Given the description of an element on the screen output the (x, y) to click on. 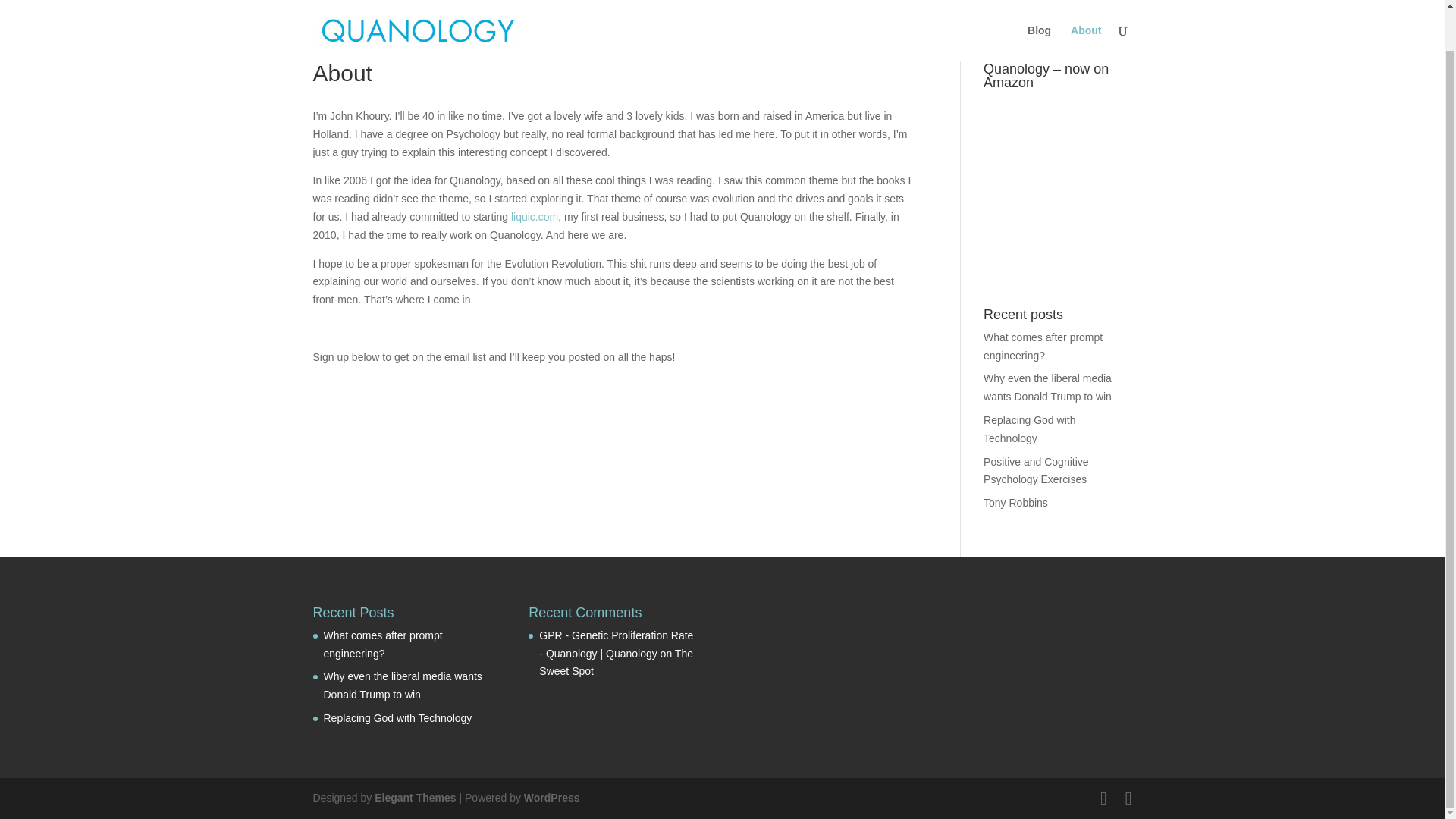
Positive and Cognitive Psychology Exercises (1036, 470)
Replacing God with Technology (1029, 429)
Elegant Themes (414, 797)
What comes after prompt engineering? (382, 644)
About (1085, 9)
What comes after prompt engineering? (1043, 346)
WordPress (551, 797)
Liquic - Therapist Directory (534, 216)
Tony Robbins (1016, 502)
Premium WordPress Themes (414, 797)
